Given the description of an element on the screen output the (x, y) to click on. 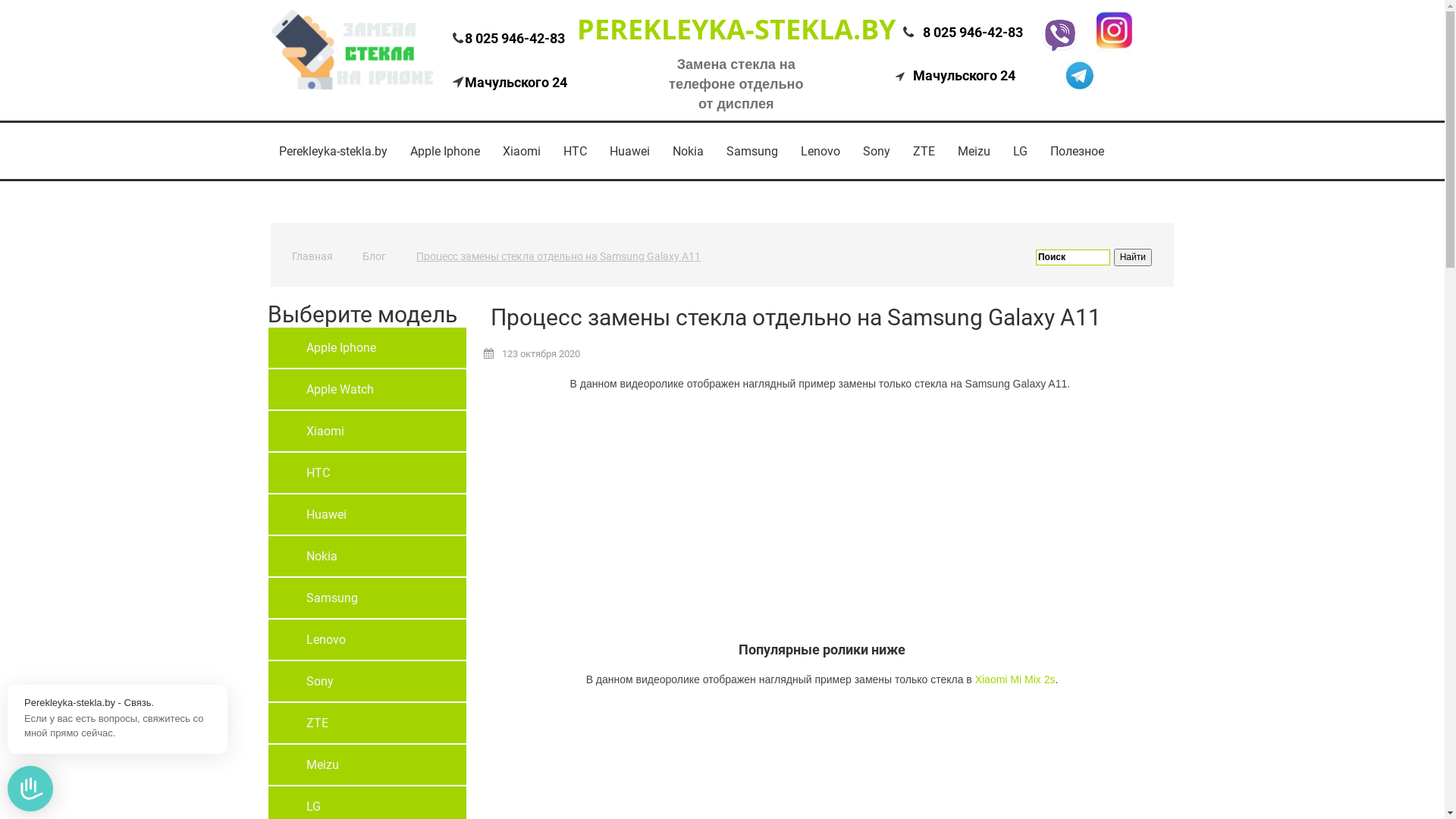
Nokia Element type: text (366, 556)
Apple Iphone Element type: text (444, 151)
Lenovo Element type: text (819, 151)
YouTube video player Element type: hover (780, 517)
Perekleyka-stekla.by Element type: text (332, 151)
Lenovo Element type: text (366, 639)
Xiaomi Element type: text (366, 430)
Samsung Element type: text (751, 151)
Apple Iphone Element type: text (366, 347)
8 025 946-42-83 Element type: text (514, 38)
Sony Element type: text (366, 681)
8 025 946-42-83 Element type: text (972, 32)
Meizu Element type: text (973, 151)
Xiaomi Element type: text (521, 151)
ZTE Element type: text (366, 722)
HTC Element type: text (575, 151)
Huawei Element type: text (366, 514)
Apple Watch Element type: text (366, 389)
ZTE Element type: text (922, 151)
HTC Element type: text (366, 472)
Samsung Element type: text (366, 597)
Sony Element type: text (875, 151)
Meizu Element type: text (366, 764)
Nokia Element type: text (688, 151)
LG Element type: text (1019, 151)
Huawei Element type: text (628, 151)
